Given the description of an element on the screen output the (x, y) to click on. 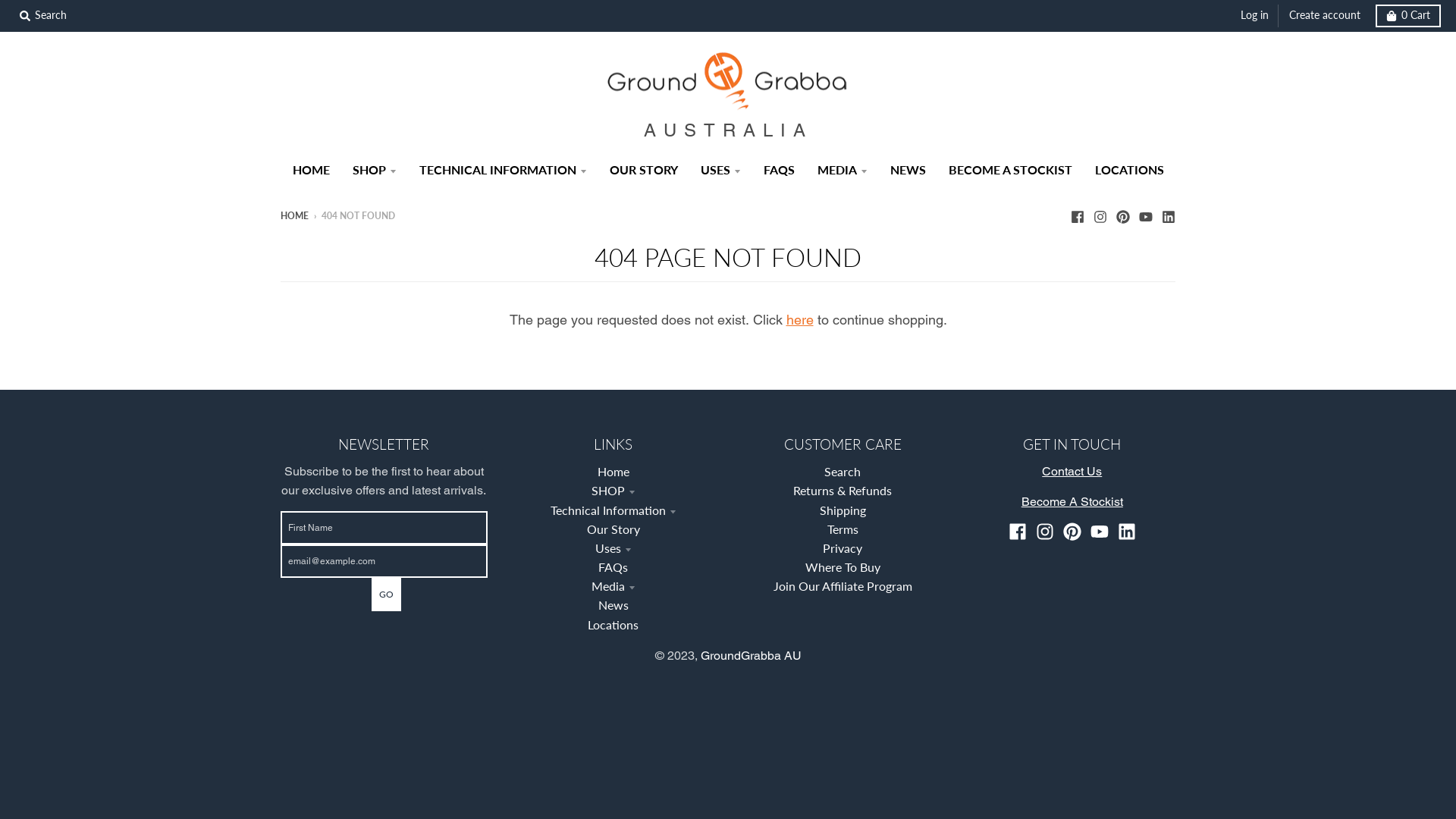
Facebook - GroundGrabba AU Element type: hover (1017, 531)
News Element type: text (613, 604)
Search Element type: text (43, 15)
HOME Element type: text (294, 215)
OUR STORY Element type: text (643, 169)
LinkedIn - GroundGrabba AU Element type: hover (1168, 215)
Create account Element type: text (1324, 15)
Search Element type: text (842, 471)
HOME Element type: text (310, 169)
FAQs Element type: text (612, 566)
Technical Information Element type: text (613, 509)
Log in Element type: text (1254, 15)
GroundGrabba AU Element type: text (750, 655)
MEDIA Element type: text (841, 169)
TECHNICAL INFORMATION Element type: text (502, 169)
Shipping Element type: text (842, 509)
LinkedIn - GroundGrabba AU Element type: hover (1126, 531)
Contact Us Element type: text (1071, 471)
Our Story Element type: text (613, 528)
Returns & Refunds Element type: text (842, 490)
LOCATIONS Element type: text (1128, 169)
Pinterest - GroundGrabba AU Element type: hover (1122, 215)
Instagram - GroundGrabba AU Element type: hover (1100, 215)
Privacy Element type: text (842, 547)
Facebook - GroundGrabba AU Element type: hover (1077, 215)
YouTube - GroundGrabba AU Element type: hover (1099, 531)
Pinterest - GroundGrabba AU Element type: hover (1072, 531)
GO Element type: text (386, 594)
Terms Element type: text (842, 528)
0 Cart Element type: text (1407, 15)
Home Element type: text (613, 471)
Instagram - GroundGrabba AU Element type: hover (1044, 531)
Locations Element type: text (612, 624)
NEWS Element type: text (907, 169)
here Element type: text (798, 319)
USES Element type: text (719, 169)
Become A Stockist Element type: text (1072, 501)
SHOP Element type: text (613, 490)
YouTube - GroundGrabba AU Element type: hover (1145, 215)
Join Our Affiliate Program Element type: text (842, 585)
SHOP Element type: text (374, 169)
Media Element type: text (613, 585)
Where To Buy Element type: text (842, 566)
Uses Element type: text (613, 547)
BECOME A STOCKIST Element type: text (1010, 169)
FAQS Element type: text (778, 169)
